Given the description of an element on the screen output the (x, y) to click on. 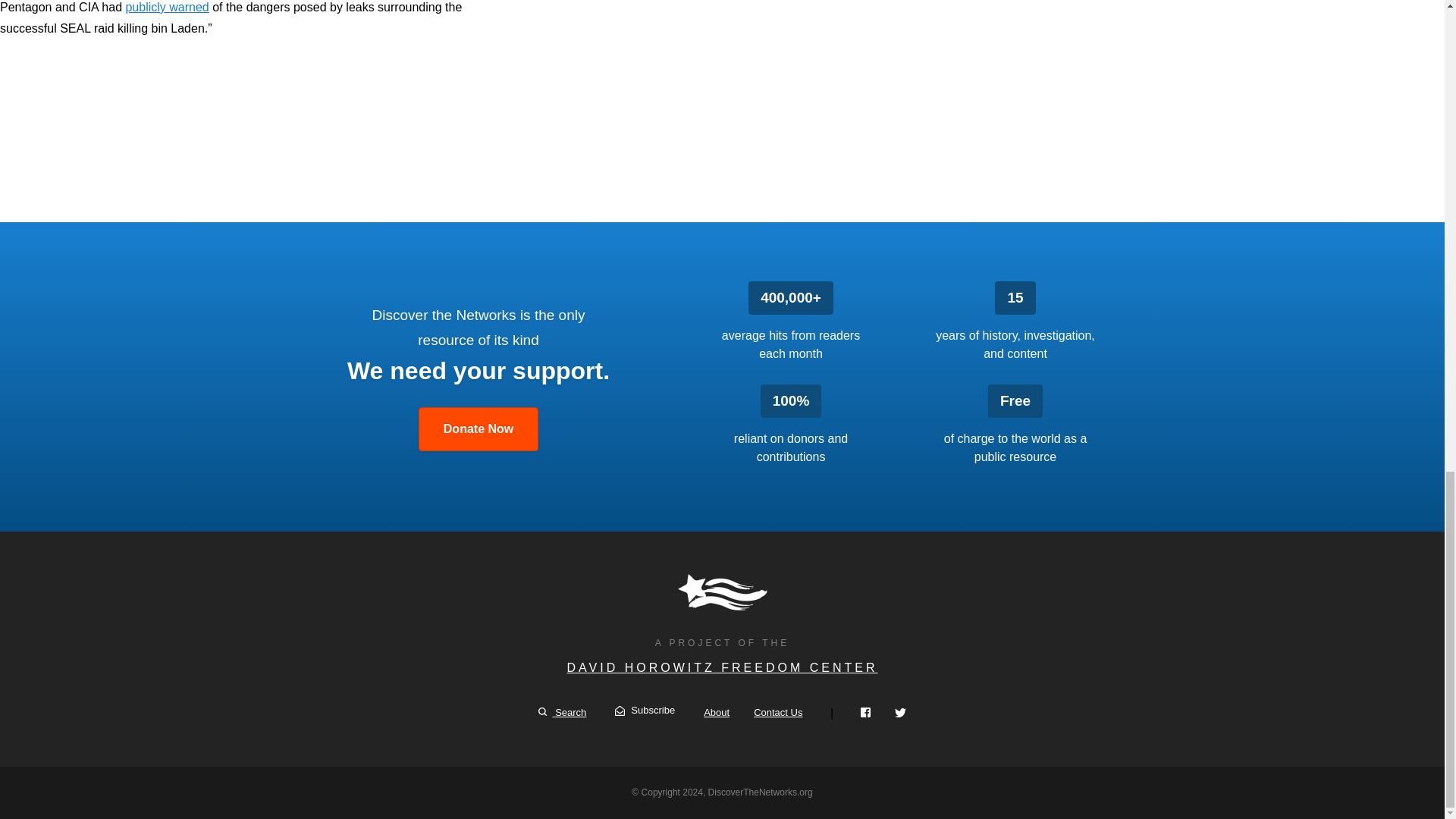
Contact Us (778, 712)
Search (562, 712)
DAVID HOROWITZ FREEDOM CENTER (722, 667)
About (716, 712)
Donate Now (478, 429)
publicly warned (166, 6)
Subscribe (644, 710)
